Given the description of an element on the screen output the (x, y) to click on. 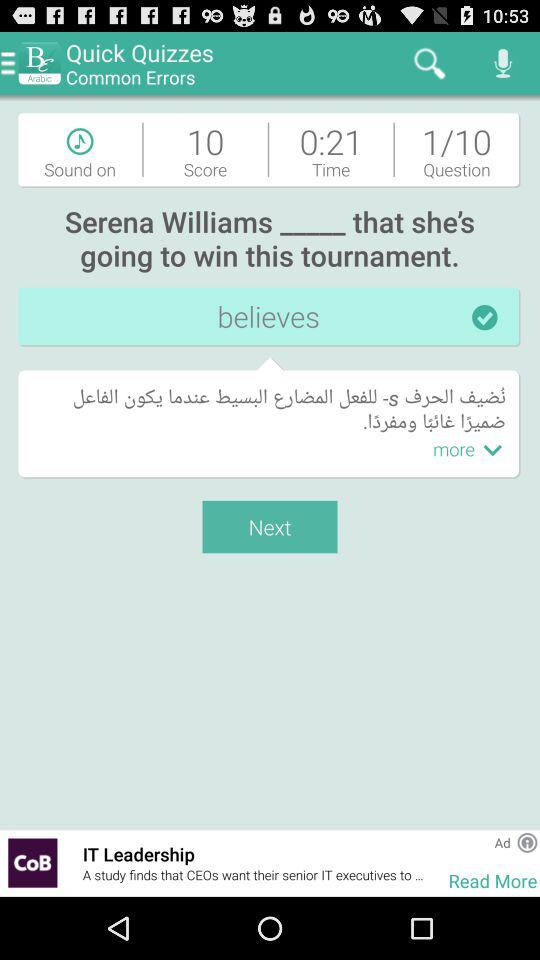
launch the item below next icon (255, 853)
